Given the description of an element on the screen output the (x, y) to click on. 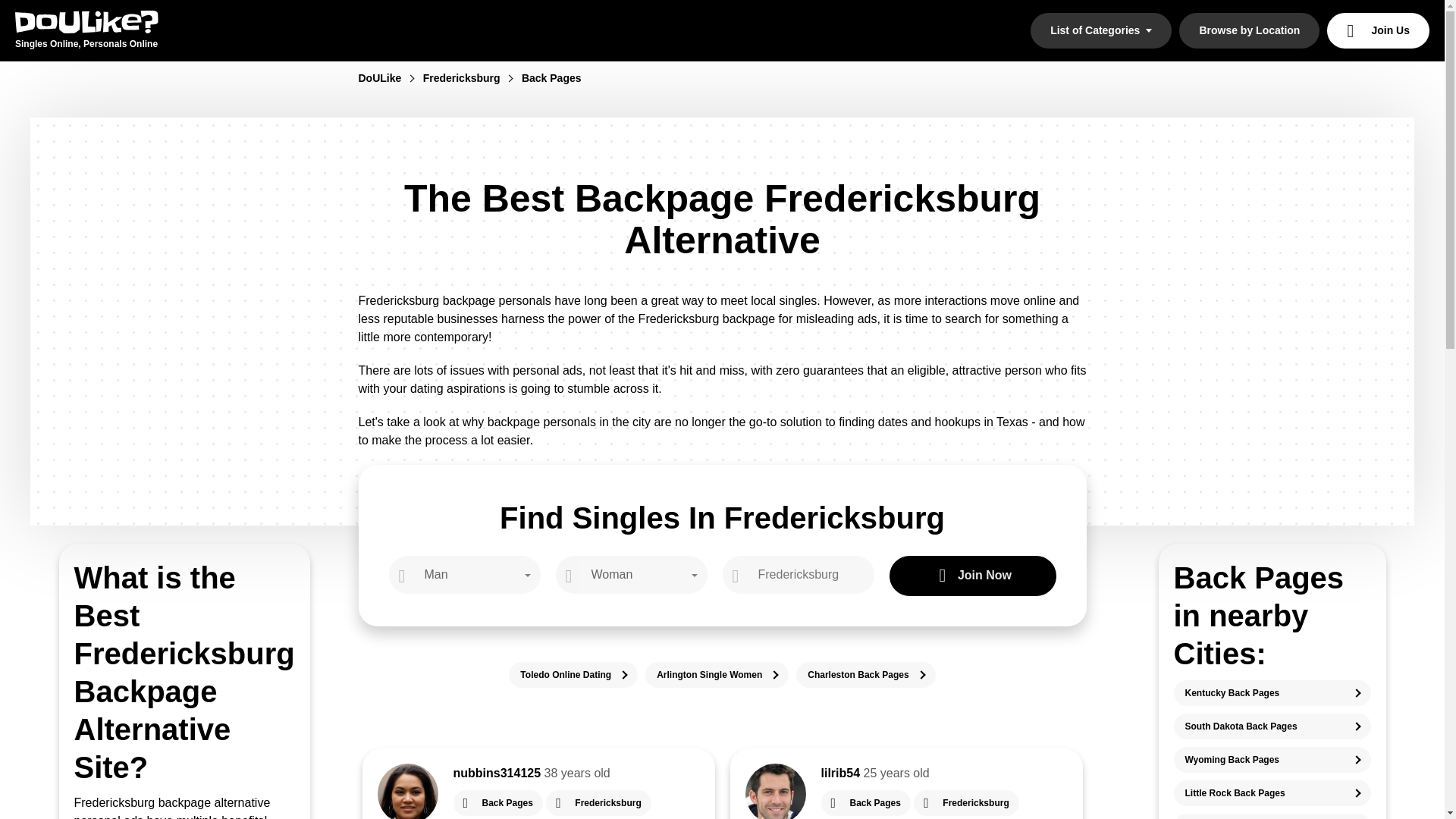
Join Now (971, 576)
Join Us (1377, 30)
Browse by Location (1249, 30)
Charleston Back Pages (865, 674)
Fredericksburg (598, 802)
lilrib54 (840, 772)
Fredericksburg (965, 802)
Toledo Online Dating (572, 674)
Fredericksburg (470, 78)
DoULike (388, 78)
